Given the description of an element on the screen output the (x, y) to click on. 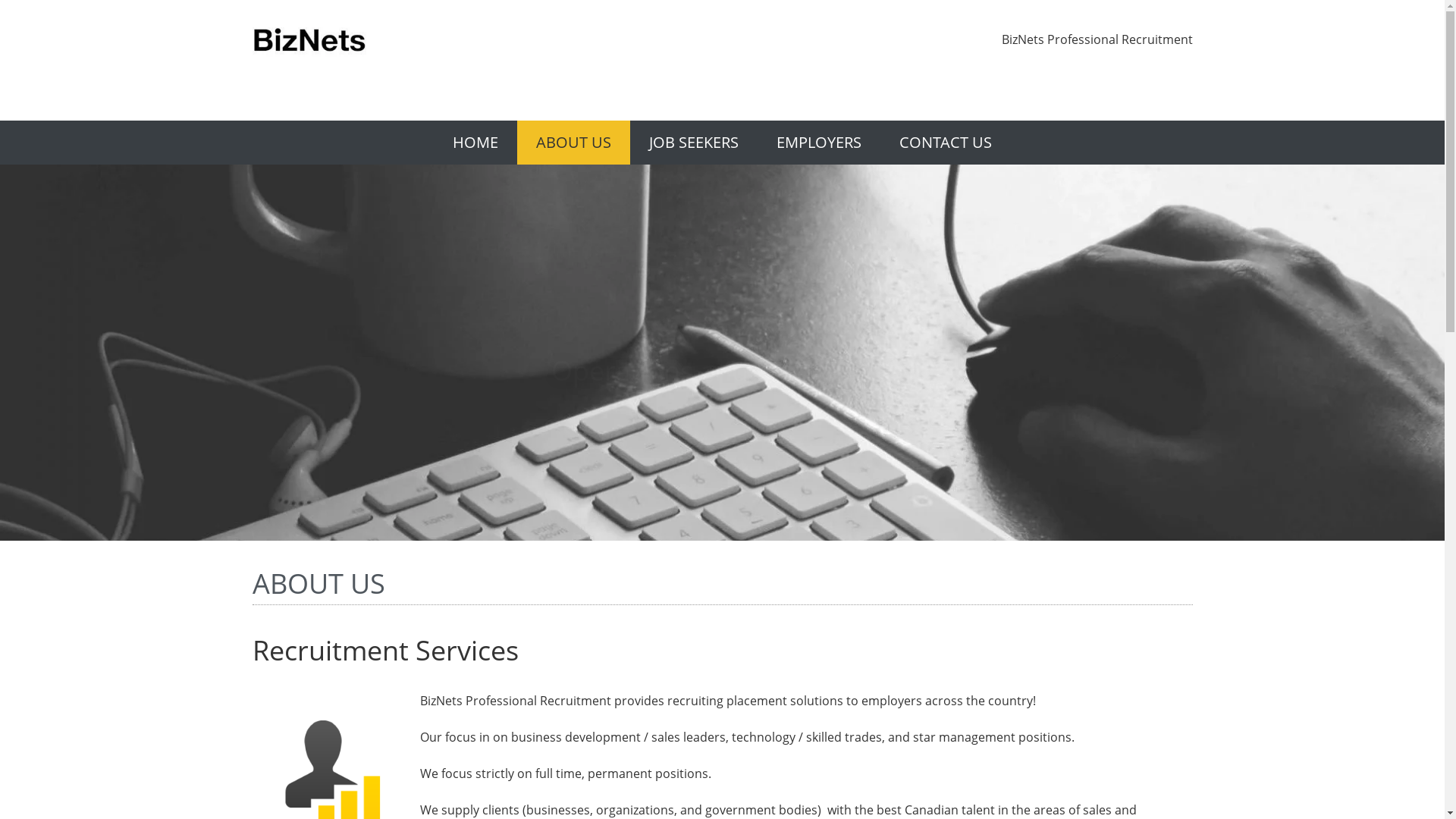
ABOUT US Element type: text (573, 142)
CONTACT US Element type: text (945, 142)
Go to site home page Element type: hover (308, 41)
HOME Element type: text (475, 142)
JOB SEEKERS Element type: text (693, 142)
Go to site home page Element type: hover (308, 40)
EMPLOYERS Element type: text (818, 142)
